Given the description of an element on the screen output the (x, y) to click on. 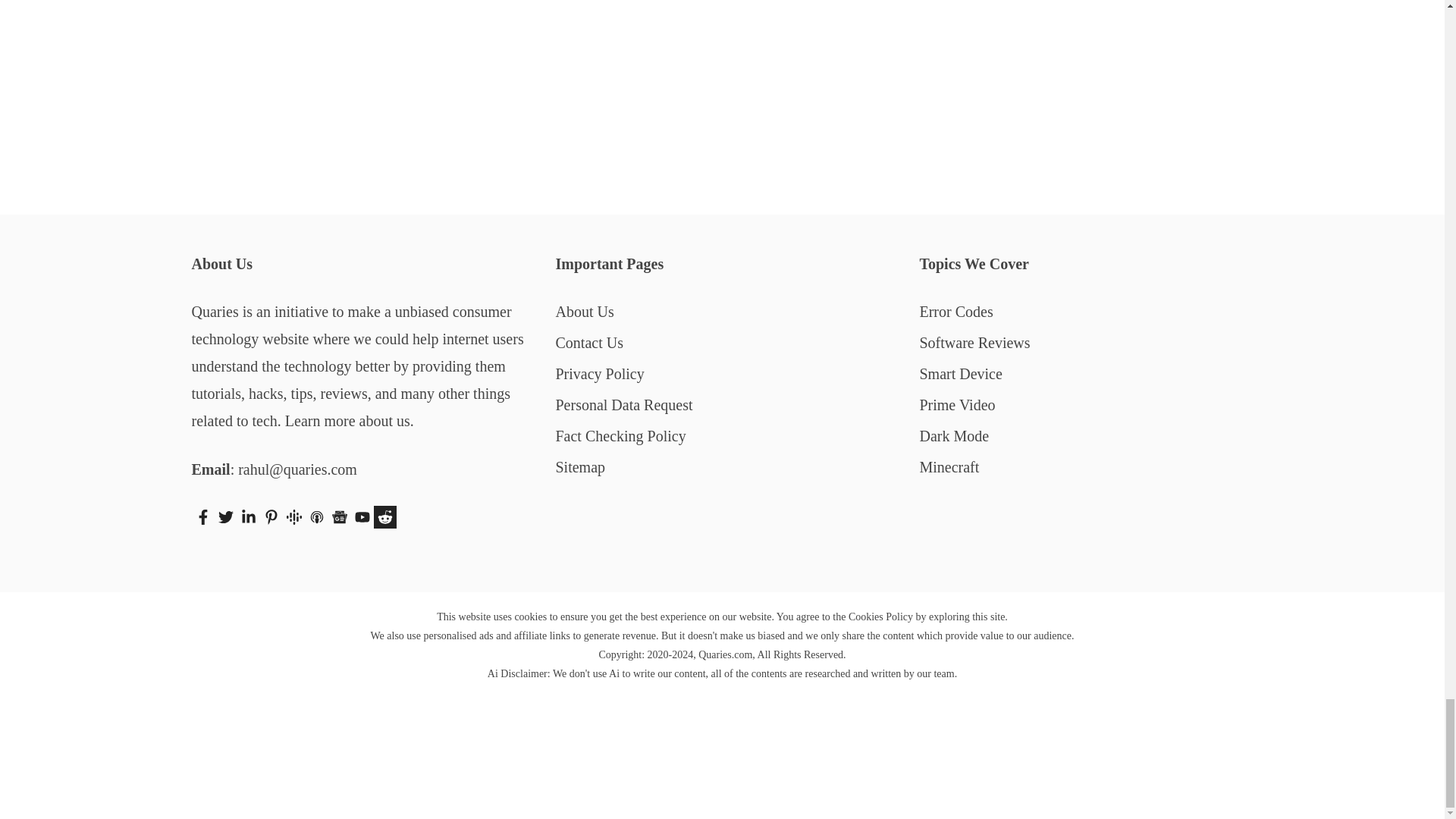
DMCA.com Protection Status (721, 793)
